Given the description of an element on the screen output the (x, y) to click on. 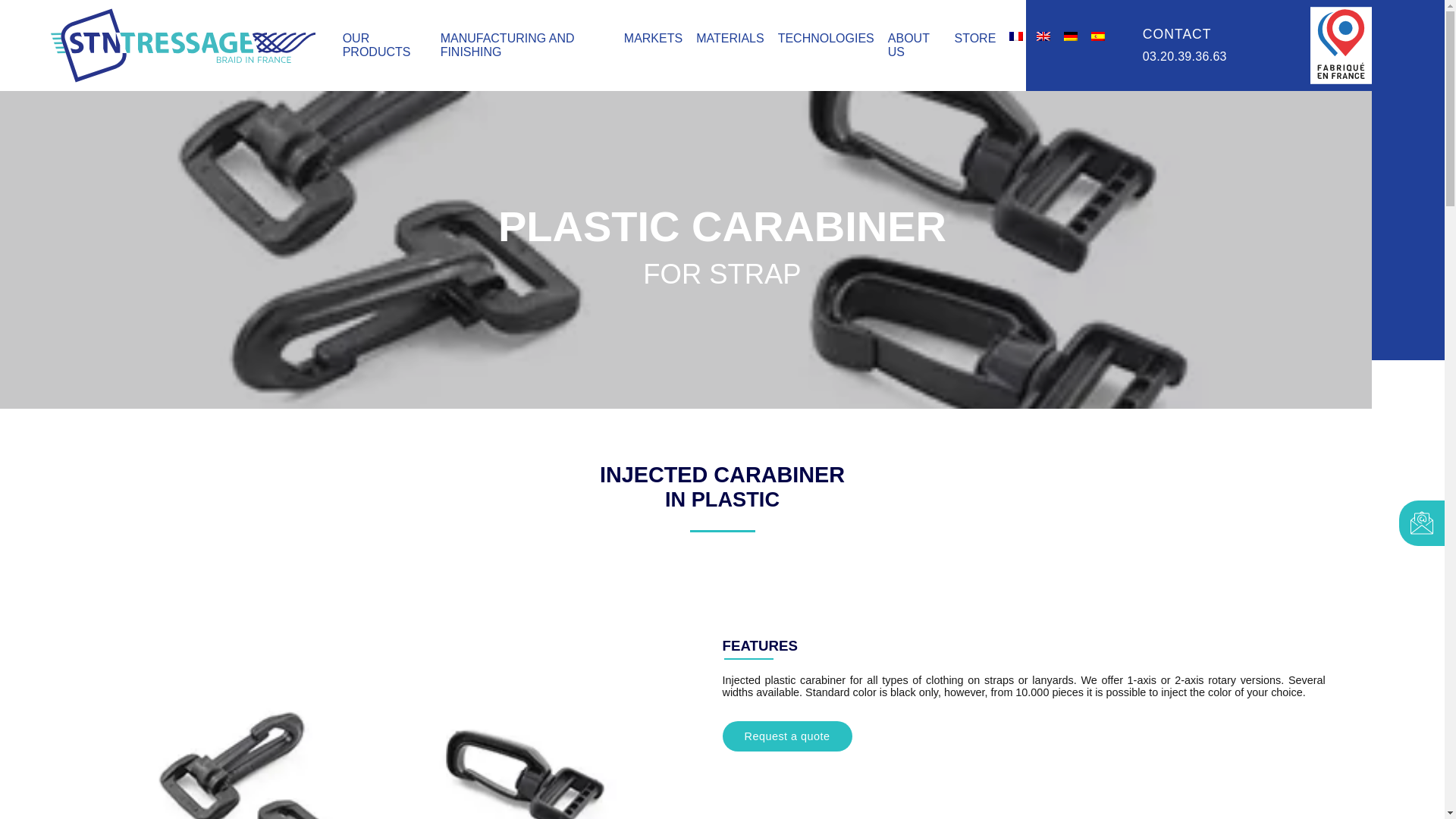
MARKETS (653, 38)
MANUFACTURING AND FINISHING (508, 44)
STORE (974, 38)
ABOUT US (909, 44)
MATERIALS (729, 38)
TECHNOLOGIES (826, 38)
OUR PRODUCTS (376, 44)
